Given the description of an element on the screen output the (x, y) to click on. 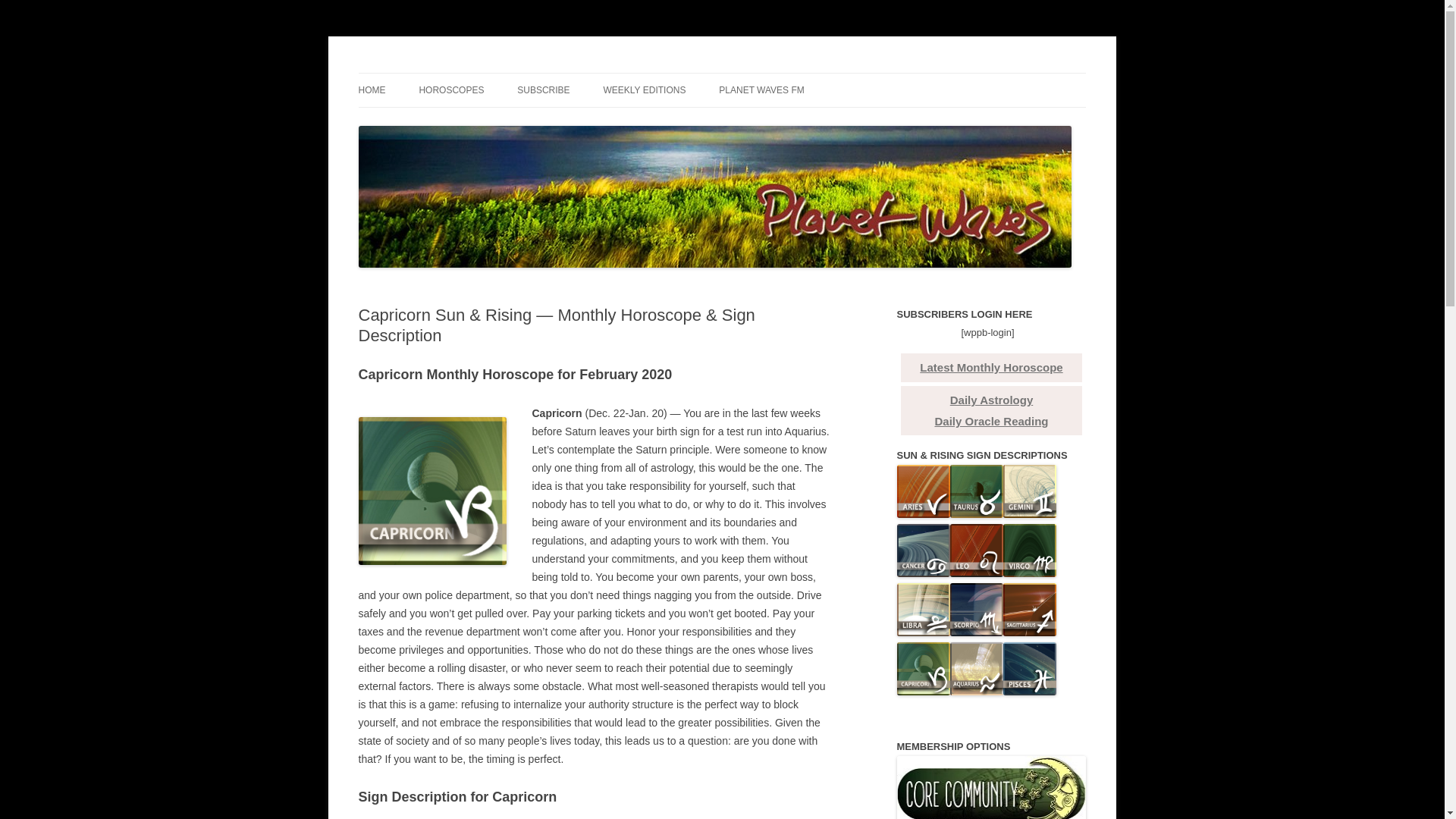
HOME (371, 90)
HOROSCOPES (451, 90)
PLANET WAVES FM (761, 90)
READINGS (433, 122)
Planet Waves Astrology by Eric Francis and Friends (601, 72)
SUBSCRIBE (542, 90)
Latest Monthly Horoscope (991, 367)
Daily Astrology (991, 399)
WEEKLY EDITIONS (644, 90)
Daily Oracle Reading (991, 420)
